Given the description of an element on the screen output the (x, y) to click on. 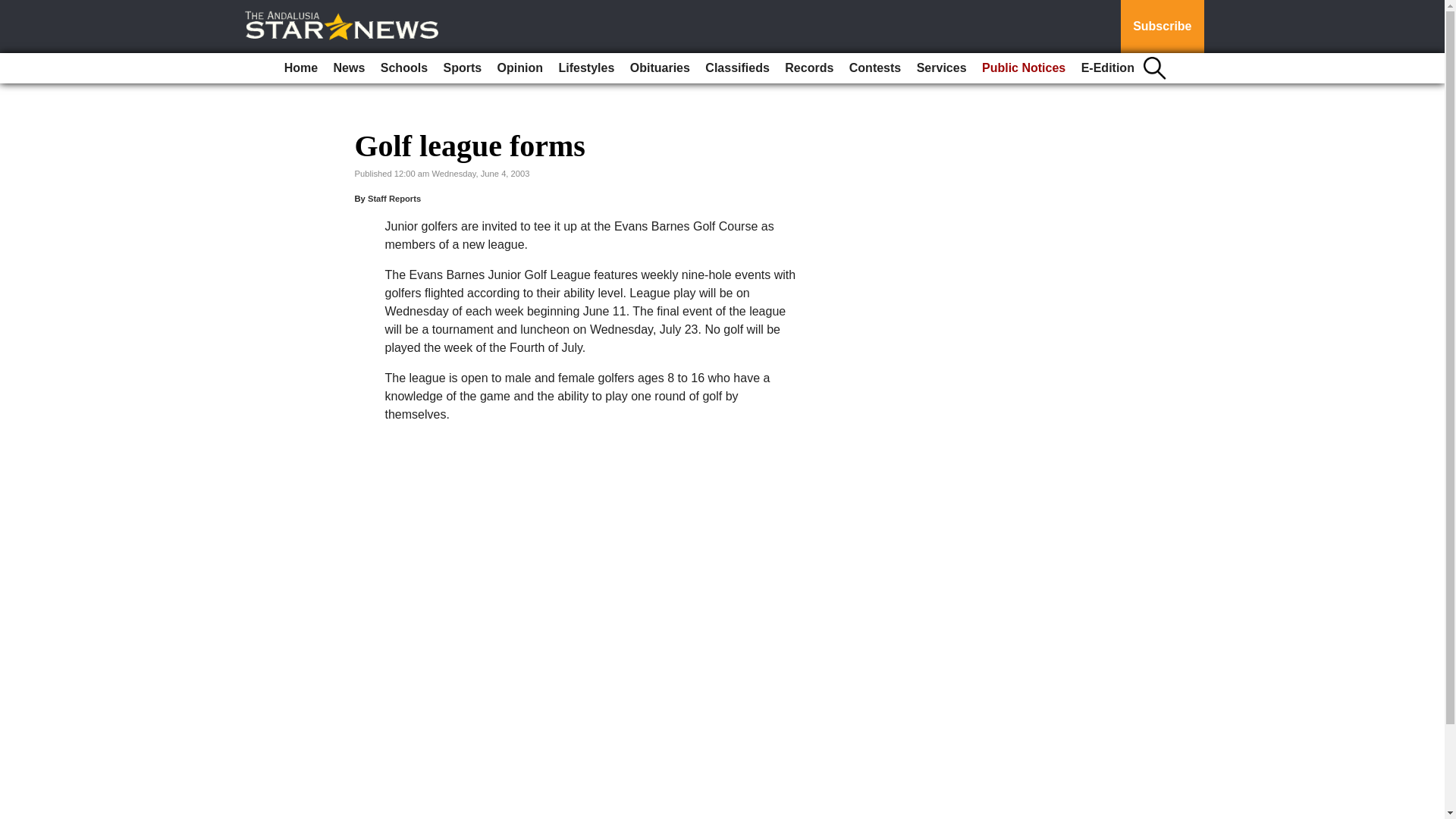
E-Edition (1107, 68)
Lifestyles (585, 68)
Opinion (520, 68)
Sports (461, 68)
Schools (403, 68)
Classifieds (736, 68)
News (349, 68)
Subscribe (1162, 26)
Contests (875, 68)
Staff Reports (394, 198)
